Given the description of an element on the screen output the (x, y) to click on. 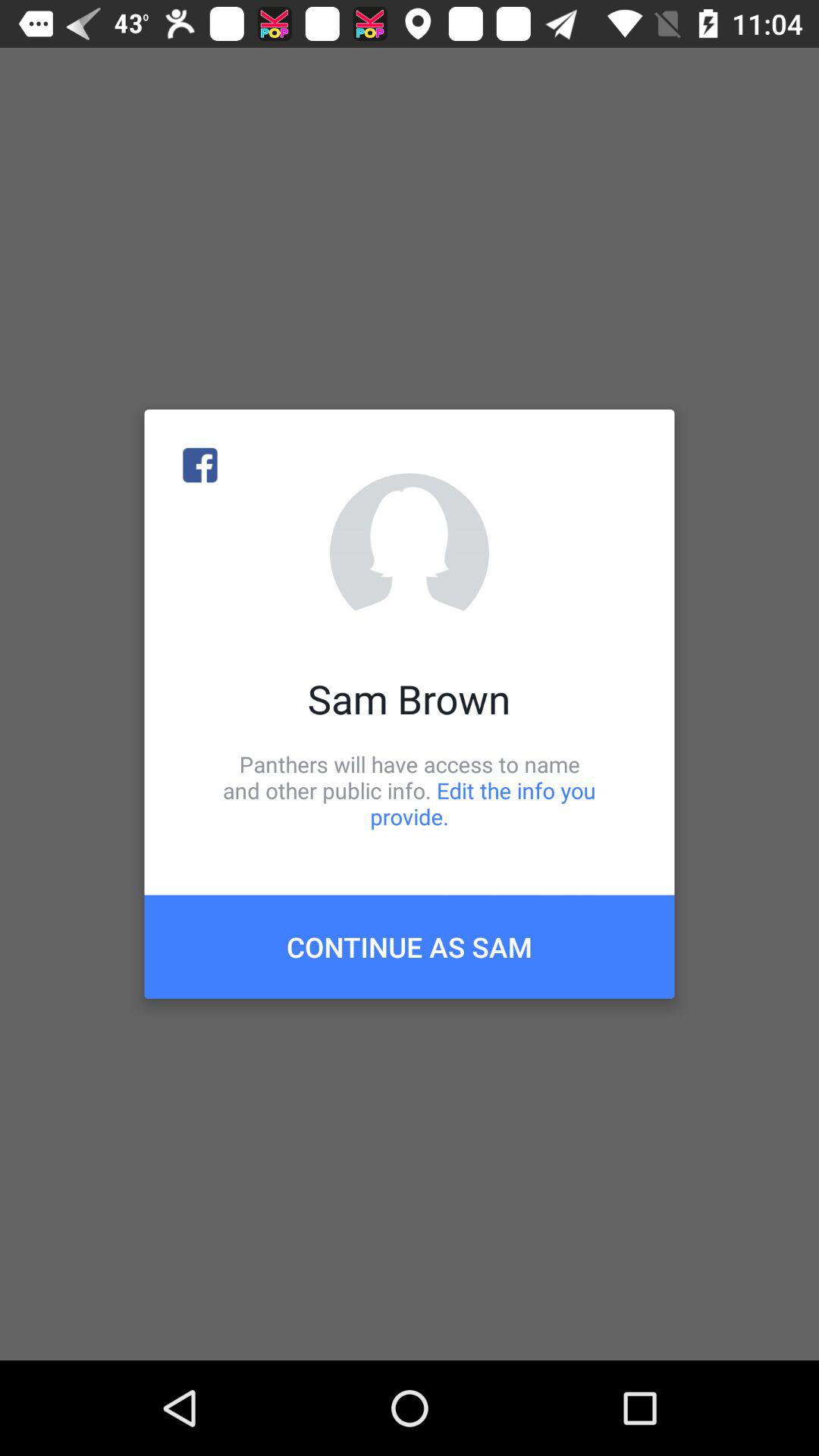
select panthers will have (409, 790)
